Given the description of an element on the screen output the (x, y) to click on. 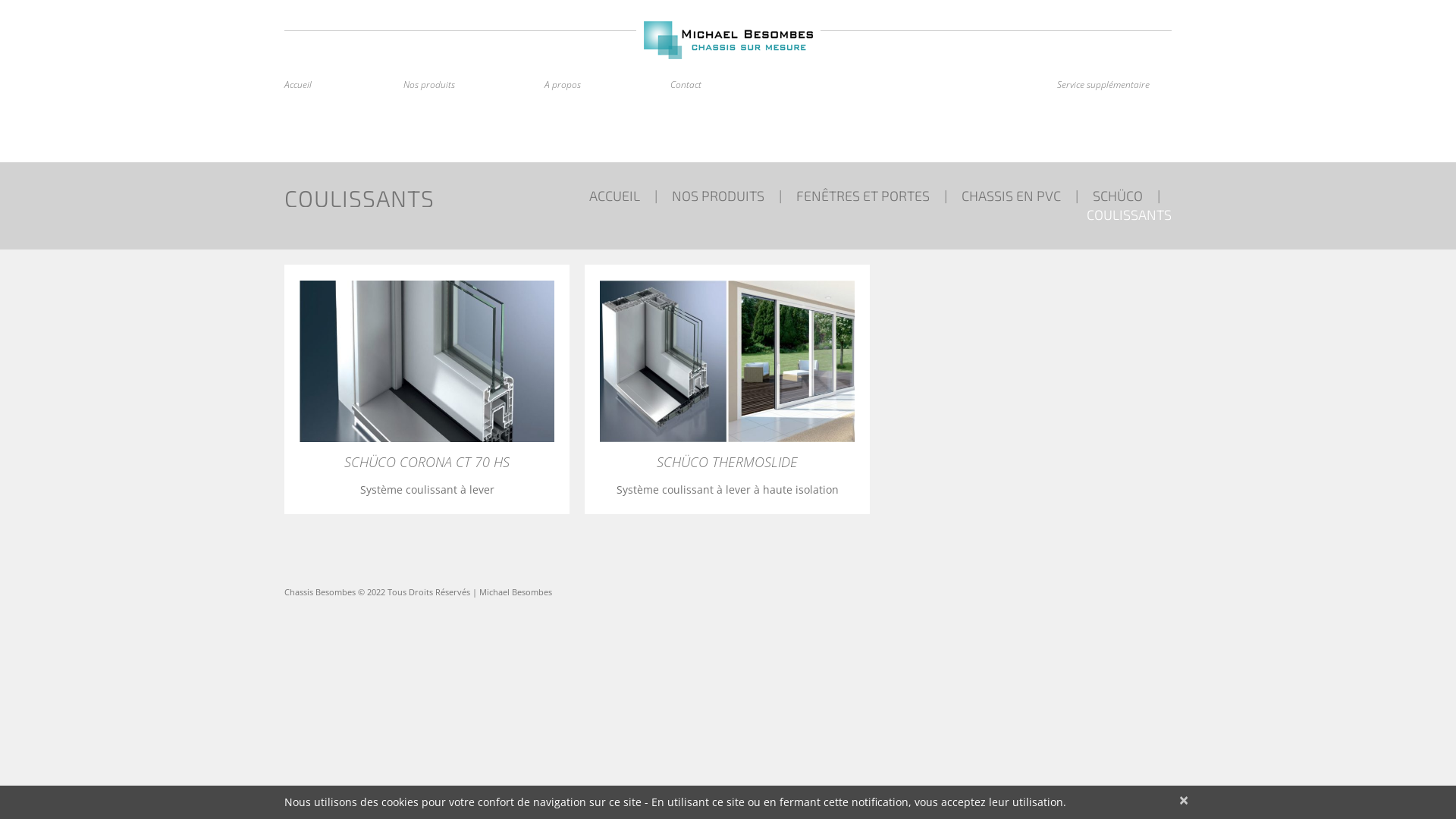
ACCUEIL Element type: text (614, 195)
NOS PRODUITS Element type: text (717, 195)
CHASSIS EN PVC Element type: text (1010, 195)
Nos produits Element type: text (429, 84)
Chassis Besombes Element type: text (319, 591)
Accueil Element type: text (297, 84)
facebook Element type: hover (400, 125)
A propos Element type: text (562, 84)
Contact Element type: text (685, 84)
